Given the description of an element on the screen output the (x, y) to click on. 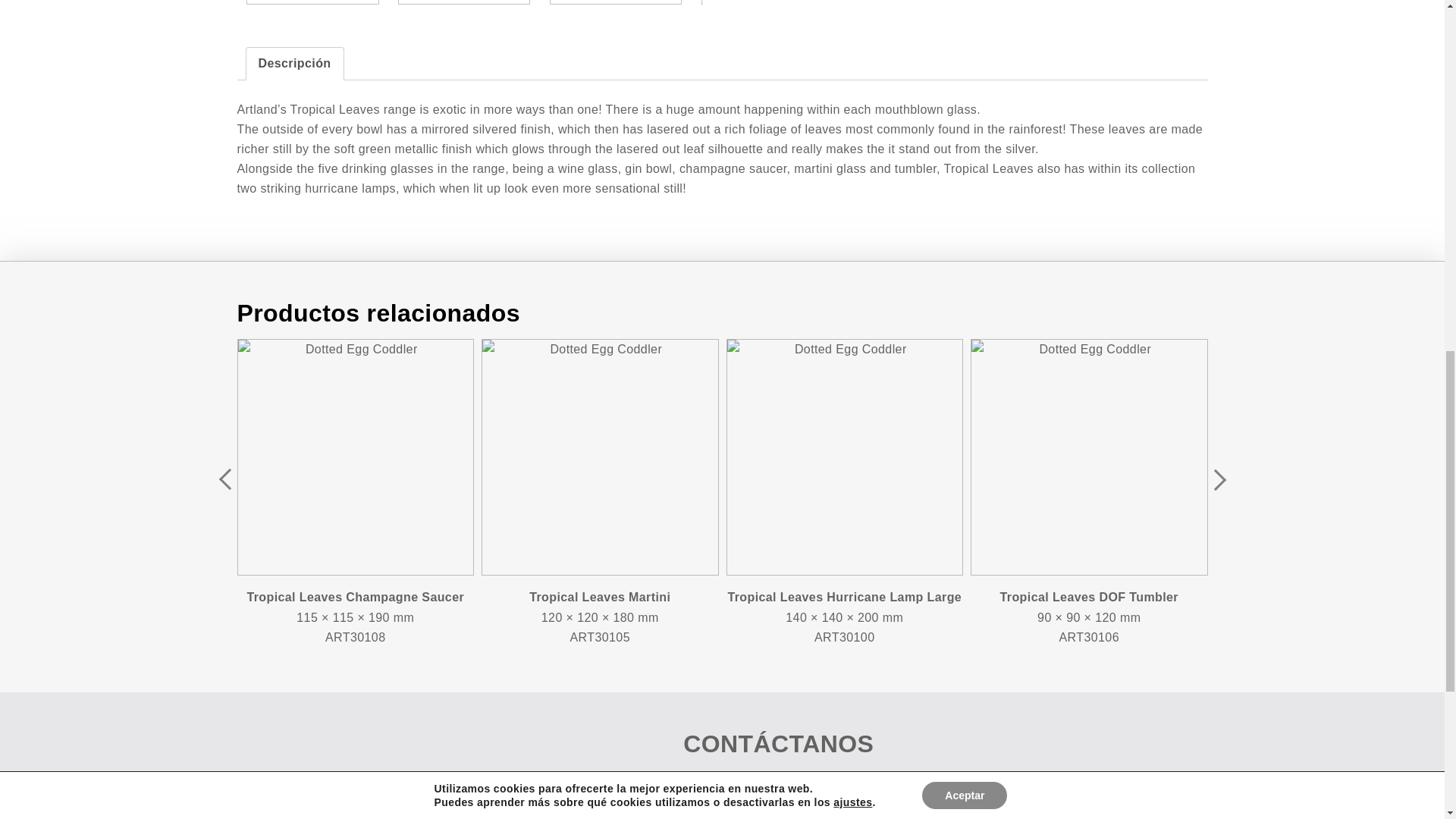
ART30111-5 (766, 2)
ART30111-4 (615, 2)
ART30111-3 (463, 2)
ART30111 (312, 2)
